Given the description of an element on the screen output the (x, y) to click on. 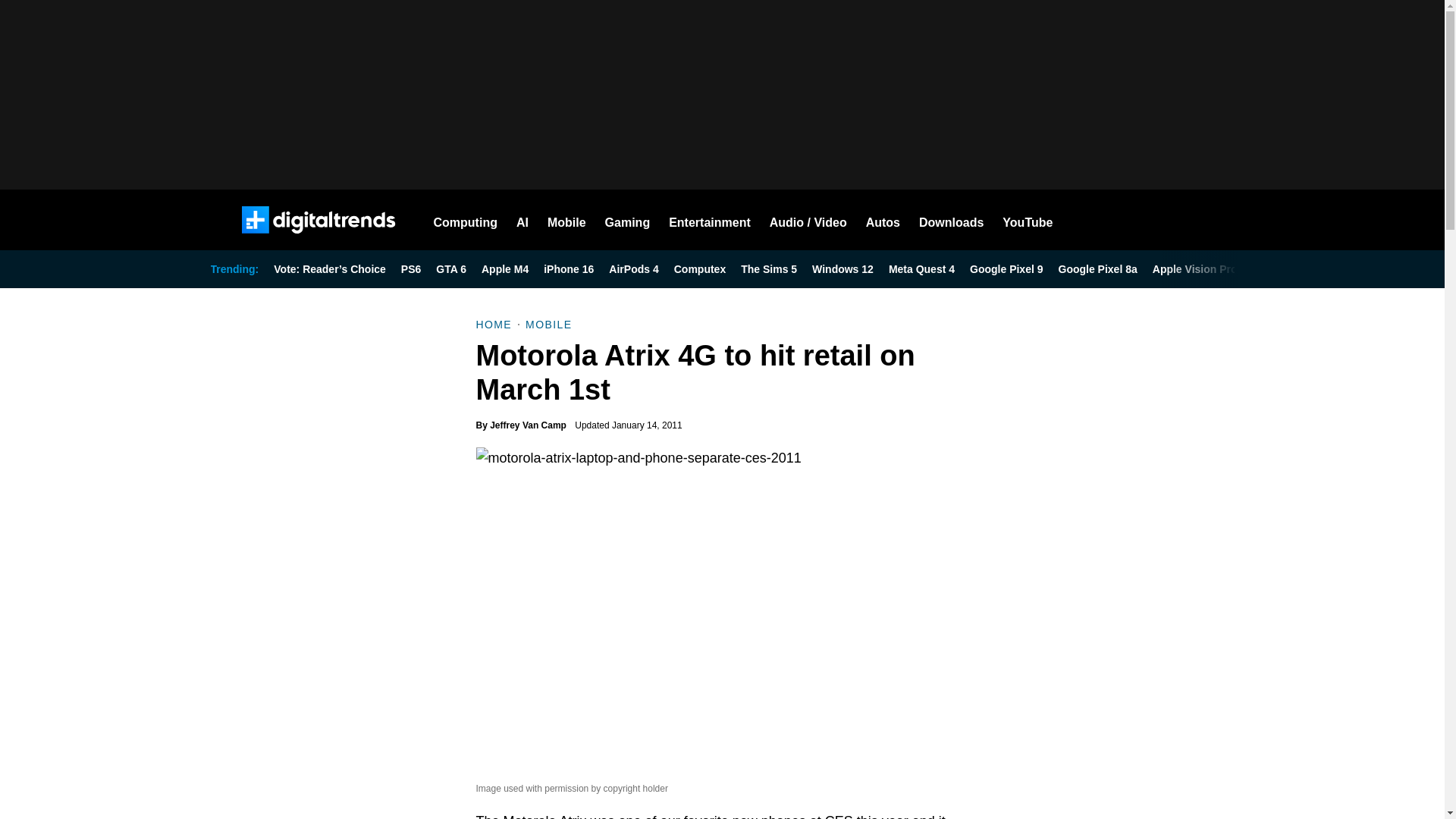
Computing (465, 219)
Downloads (951, 219)
Entertainment (709, 219)
